Given the description of an element on the screen output the (x, y) to click on. 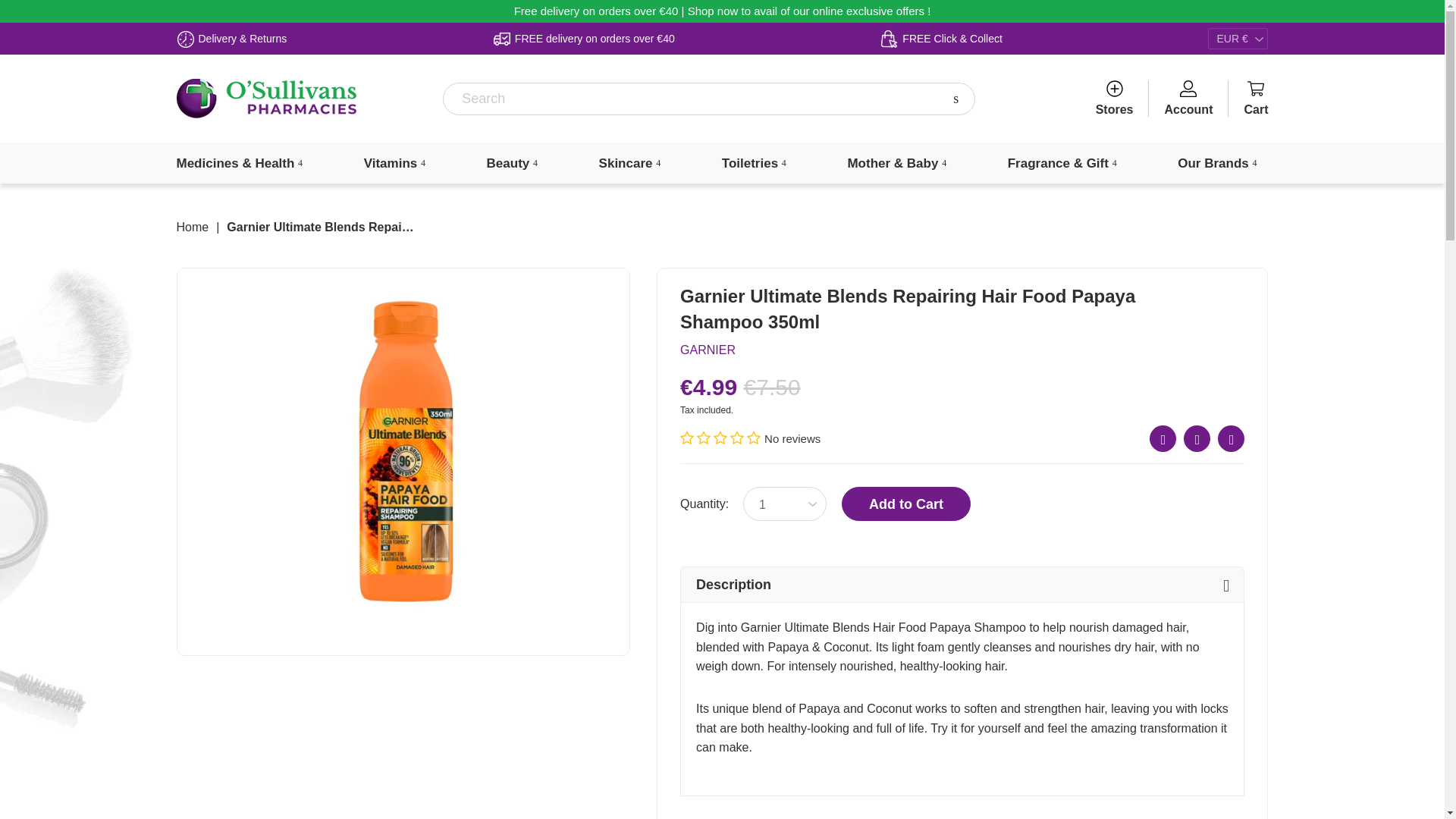
Search (956, 97)
Stores (1115, 98)
Back to the frontpage (192, 227)
Share on Facebook (1163, 438)
Tweet on Twitter (1196, 438)
Pin on Pinterest (1230, 438)
Account (1187, 98)
